Given the description of an element on the screen output the (x, y) to click on. 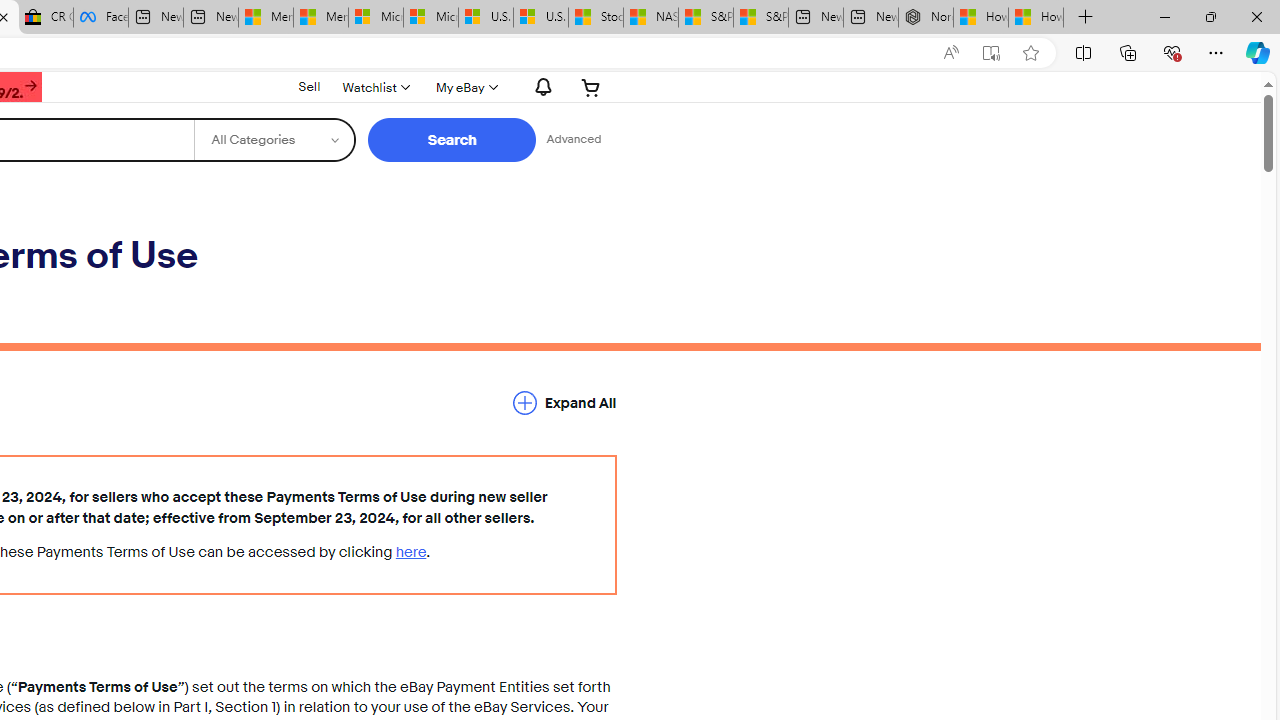
Advanced Search (573, 139)
here (411, 552)
My eBayExpand My eBay (464, 87)
Sell (308, 86)
My eBay (464, 87)
WatchlistExpand Watch List (374, 87)
